Given the description of an element on the screen output the (x, y) to click on. 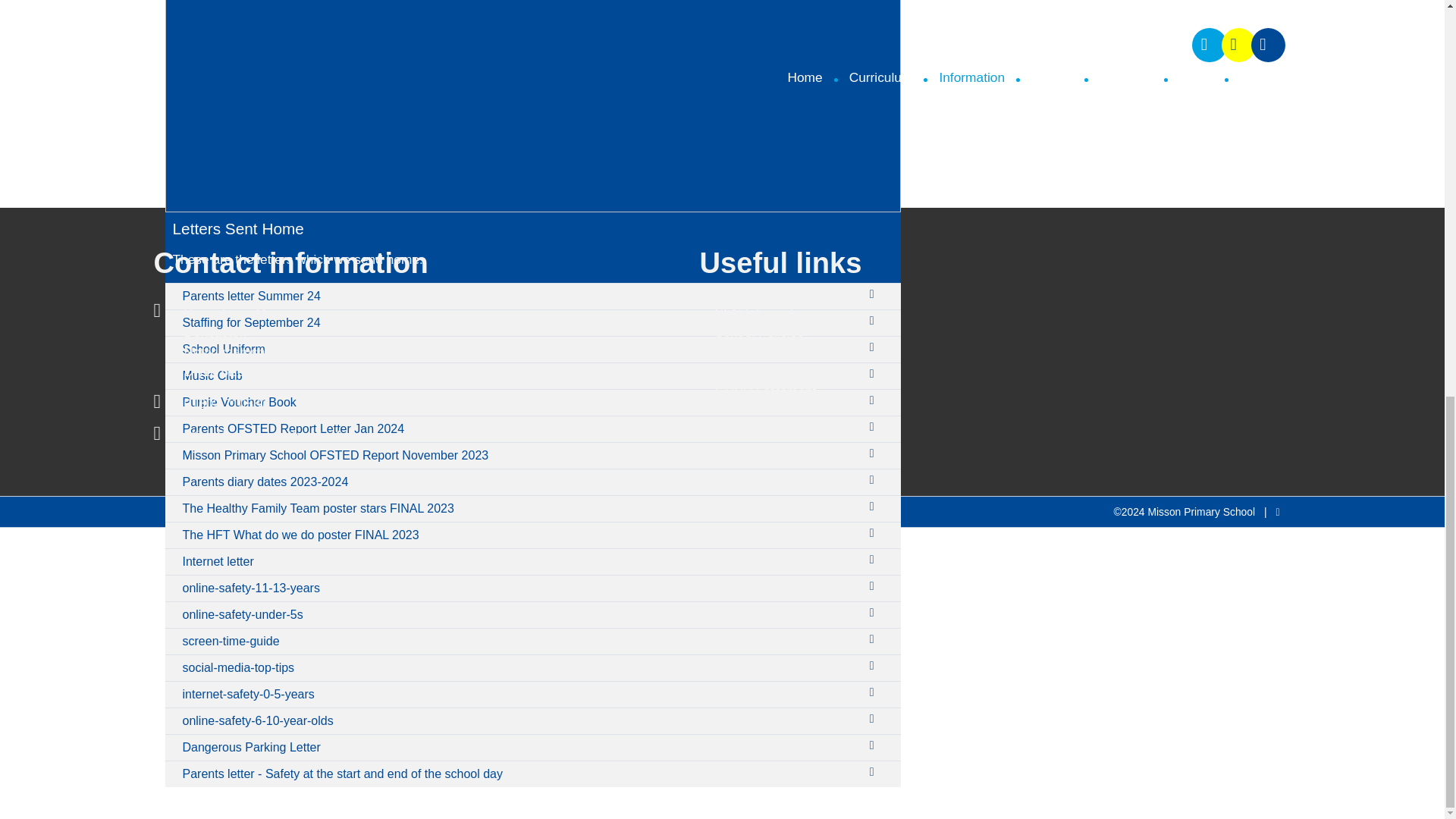
Download (875, 718)
Misson Primary School OFSTED Report November 2023 (518, 455)
online-safety-11-13-years (518, 588)
School Uniform (518, 349)
Download (875, 506)
Download (875, 373)
Download (875, 638)
Internet letter (518, 561)
Download (875, 771)
Music Club (518, 376)
Download (875, 692)
Parents letter Summer 24 (518, 296)
Download (875, 745)
Download (875, 293)
Parents diary dates 2023-2024 (518, 482)
